Given the description of an element on the screen output the (x, y) to click on. 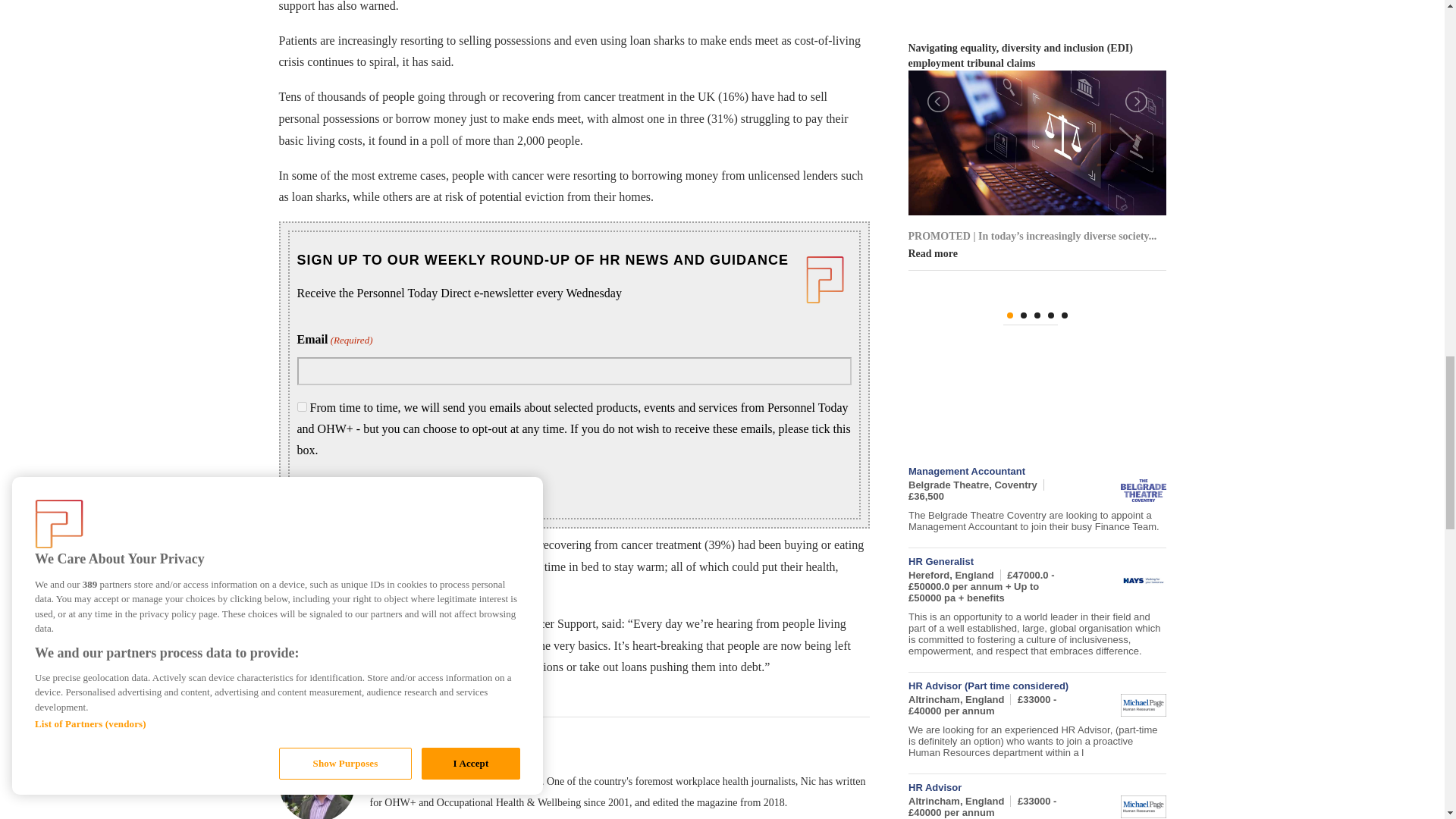
Author Nic Paton (405, 753)
1 (302, 406)
Submit (314, 484)
